Given the description of an element on the screen output the (x, y) to click on. 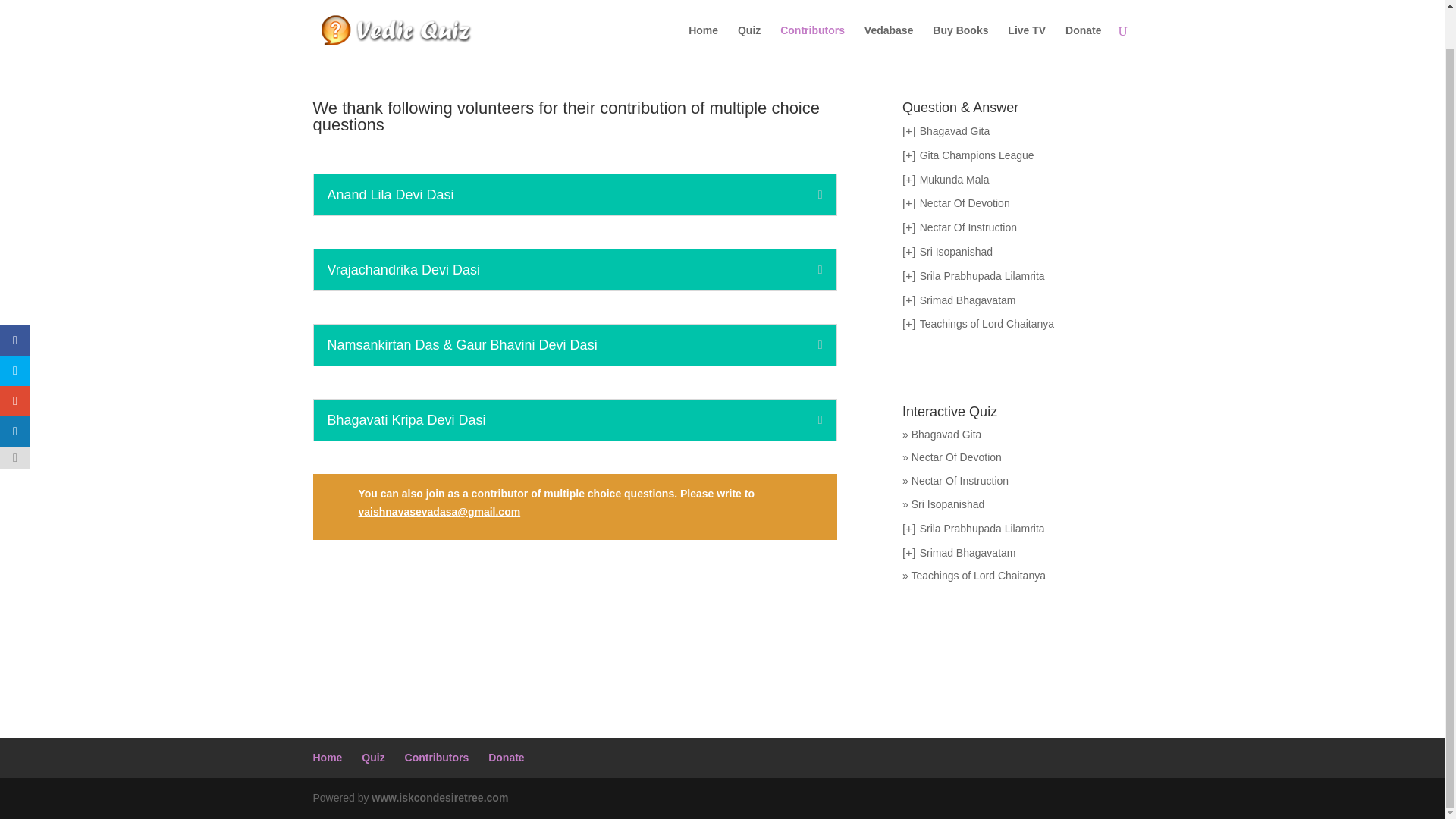
Quiz (749, 9)
Buy Books (960, 9)
Bhagavad Gita (955, 131)
Quiz (749, 9)
Gita Champions League (976, 155)
Buy Prabhupada Books (960, 9)
Live TV (1026, 9)
Contributors (812, 9)
Home (702, 9)
Bhagavad Gita As It Is (955, 131)
